Given the description of an element on the screen output the (x, y) to click on. 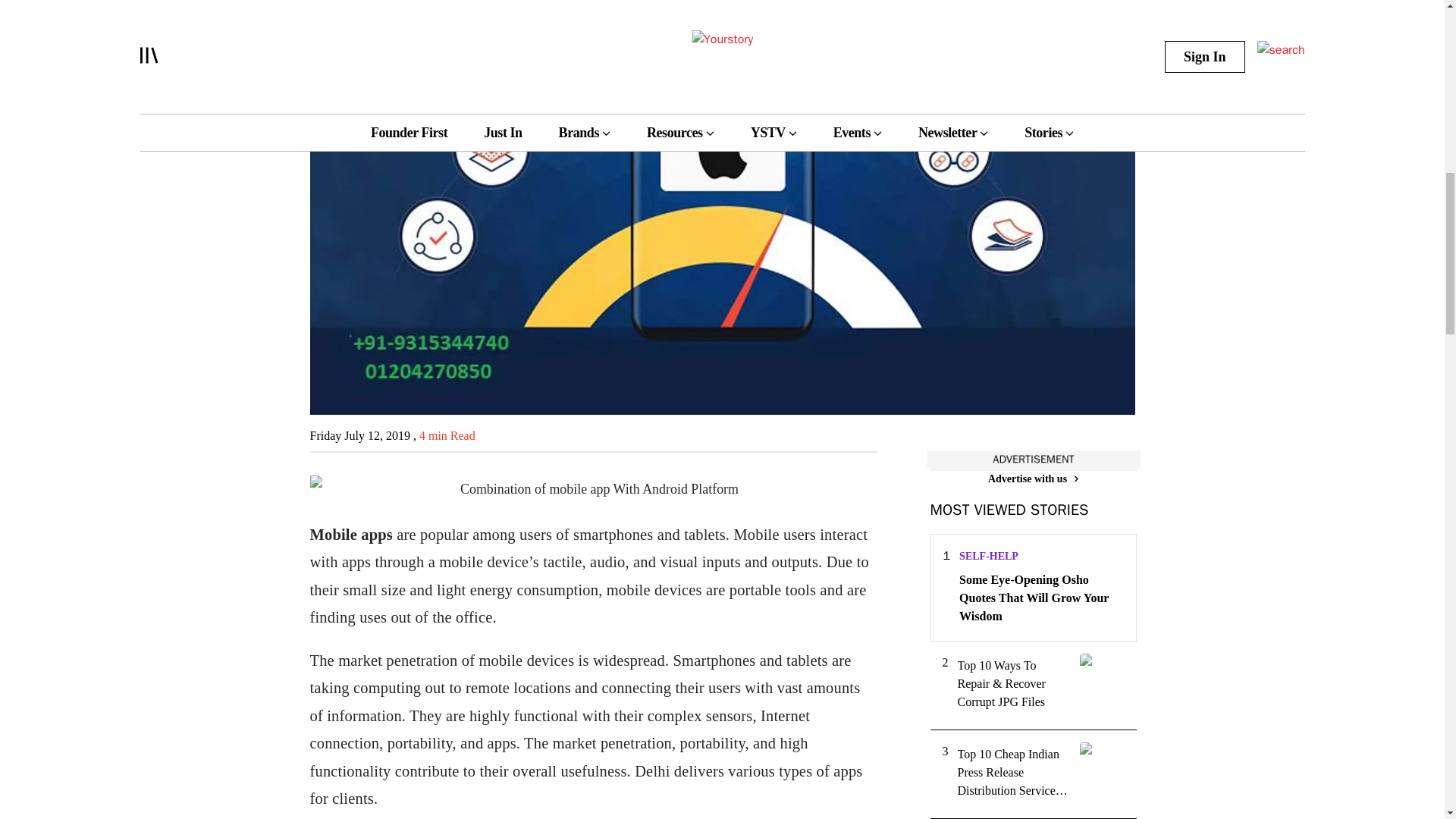
Some Eye-Opening Osho Quotes That Will Grow Your Wisdom (1040, 597)
Advertise with us (1032, 478)
SELF-HELP (988, 555)
